Given the description of an element on the screen output the (x, y) to click on. 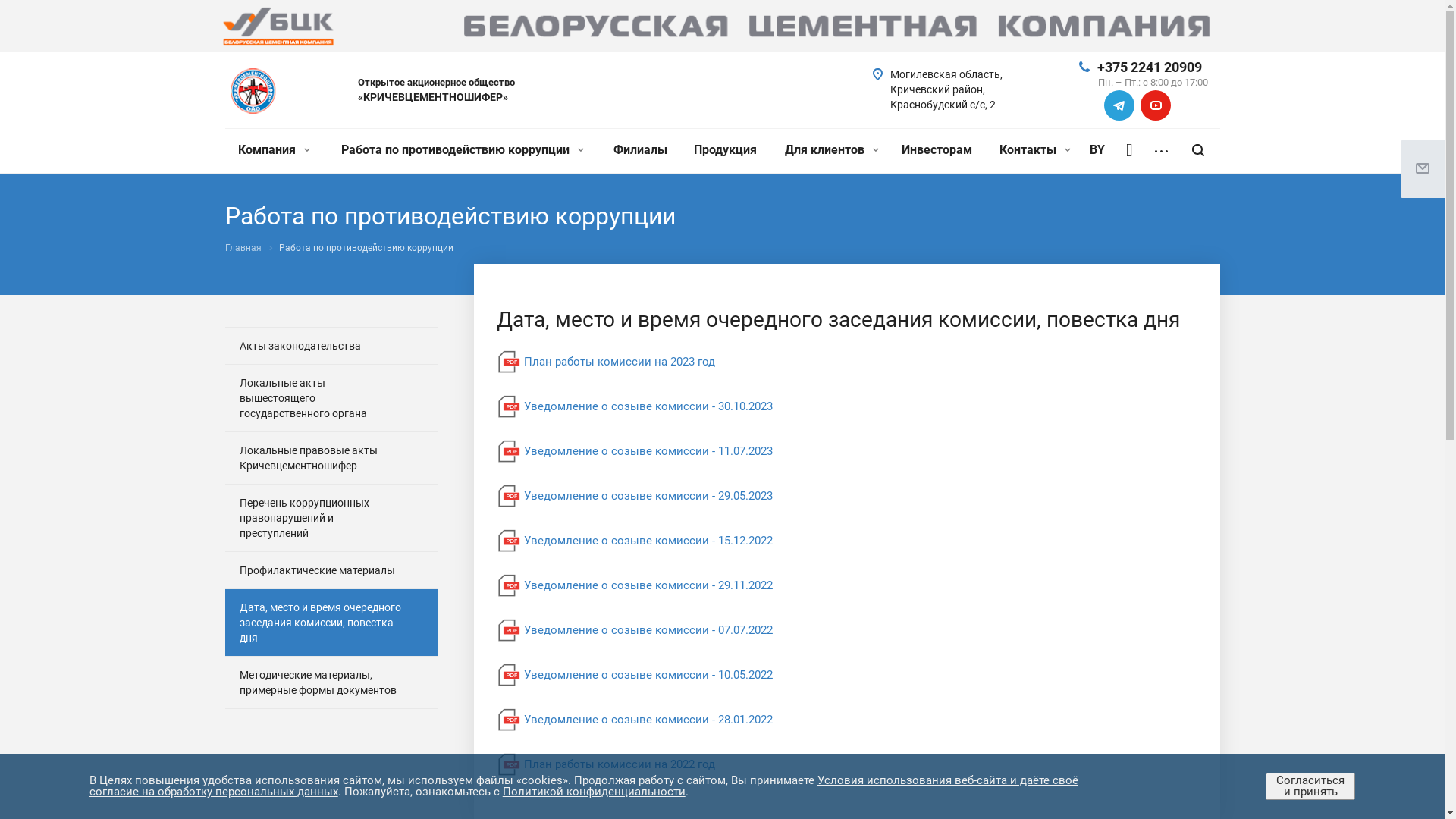
BY Element type: text (1096, 150)
Telegram Element type: hover (1119, 105)
YouTube Element type: hover (1155, 105)
+375 2241 20909 Element type: text (1148, 67)
